Given the description of an element on the screen output the (x, y) to click on. 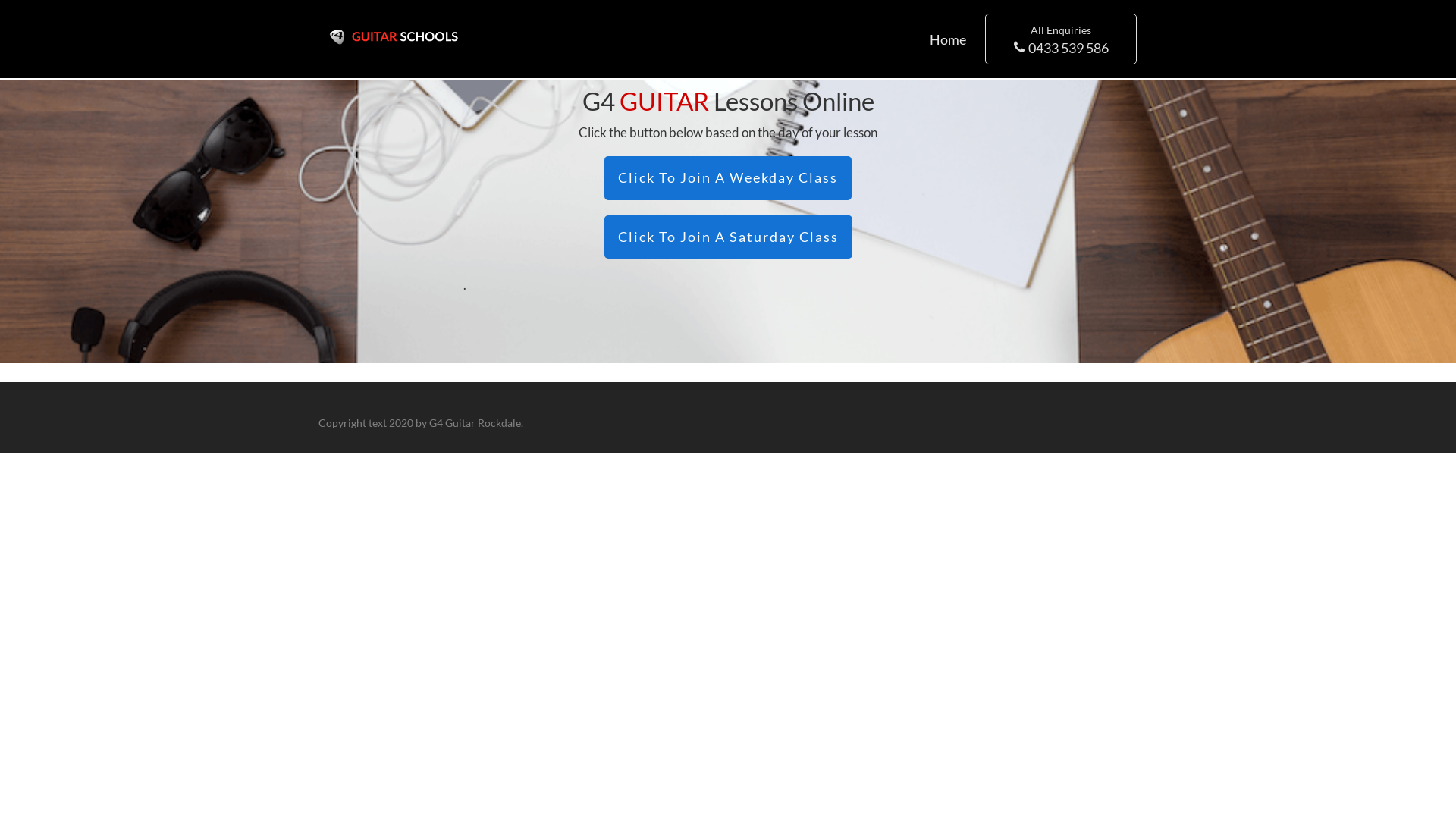
Home Element type: text (947, 38)
Click To Join A Weekday Class Element type: text (727, 178)
All Enquiries
0433 539 586 Element type: text (1060, 38)
Click To Join A Saturday Class Element type: text (727, 237)
